Given the description of an element on the screen output the (x, y) to click on. 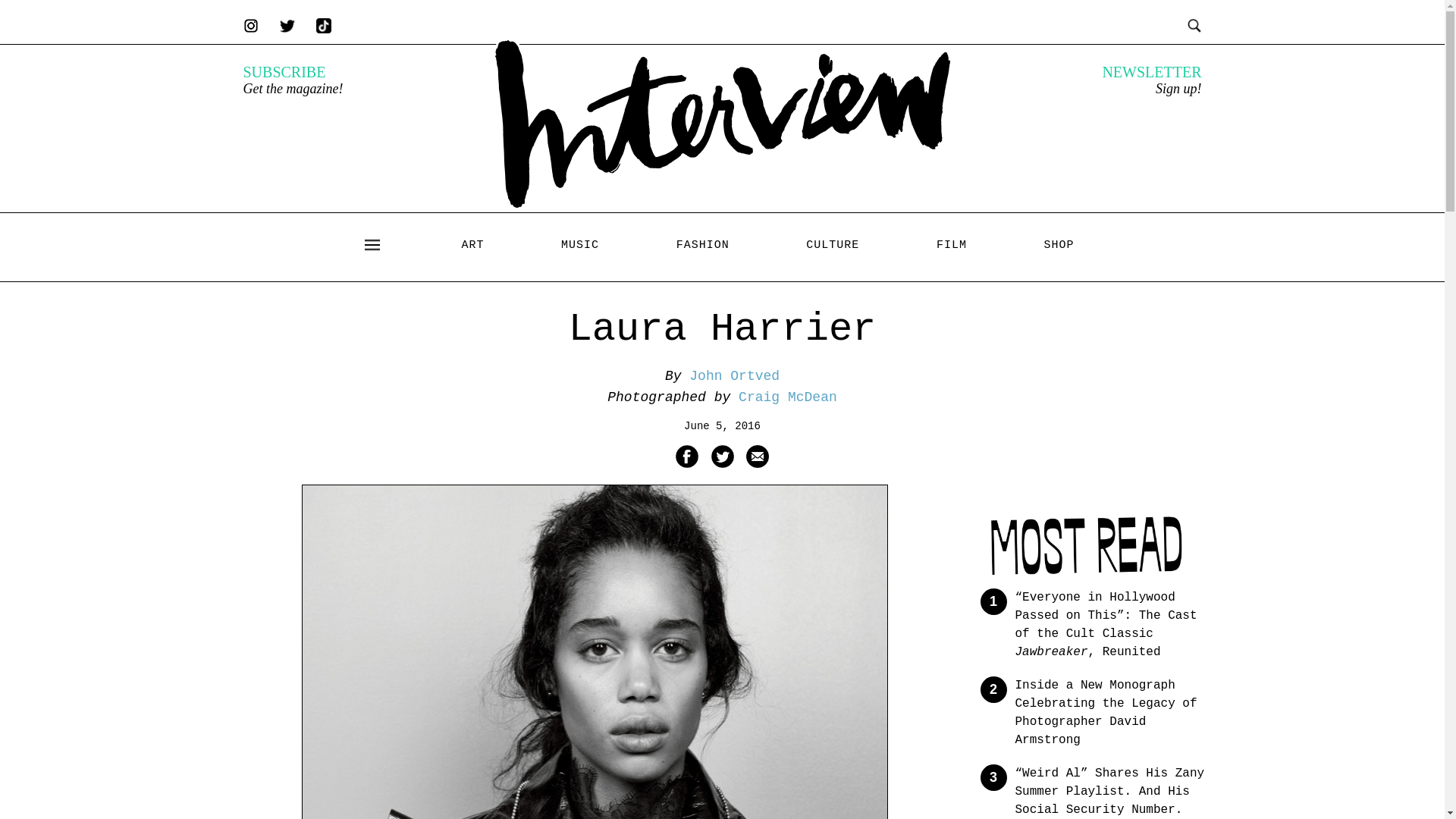
SUBSCRIBE (283, 71)
FILM (951, 245)
Posts by John Ortved (733, 376)
FASHION (703, 245)
ART (472, 245)
CULTURE (832, 245)
NEWSLETTER (1151, 71)
SHOP (1058, 245)
MUSIC (579, 245)
Craig McDean (787, 396)
John Ortved (733, 376)
